Given the description of an element on the screen output the (x, y) to click on. 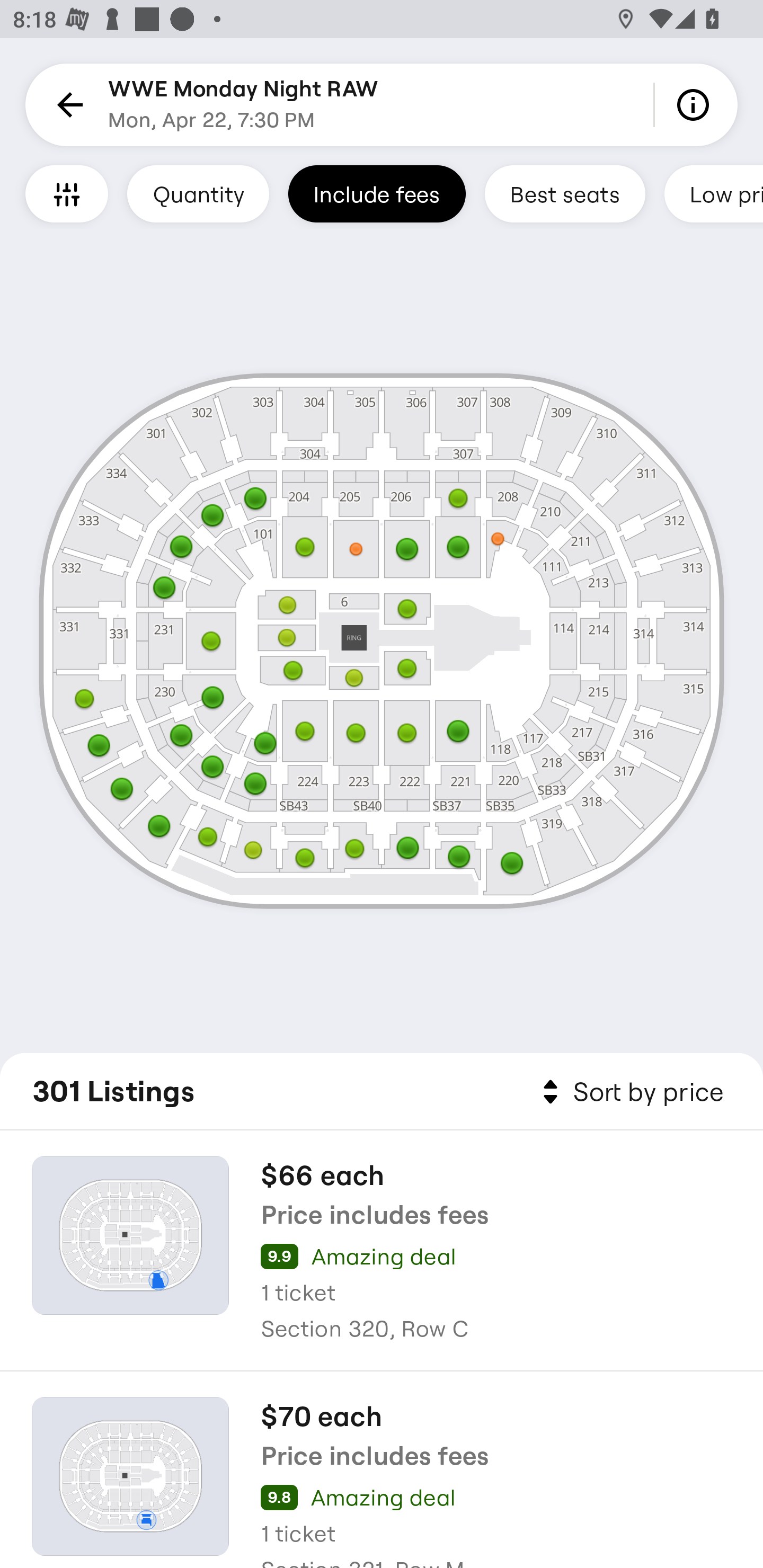
Back (66, 104)
WWE Monday Night RAW Mon, Apr 22, 7:30 PM (243, 104)
Info (695, 104)
Filters and Accessible Seating (66, 193)
Quantity (198, 193)
Include fees (376, 193)
Best seats (564, 193)
Low prices (713, 193)
Sort by price (629, 1091)
